Given the description of an element on the screen output the (x, y) to click on. 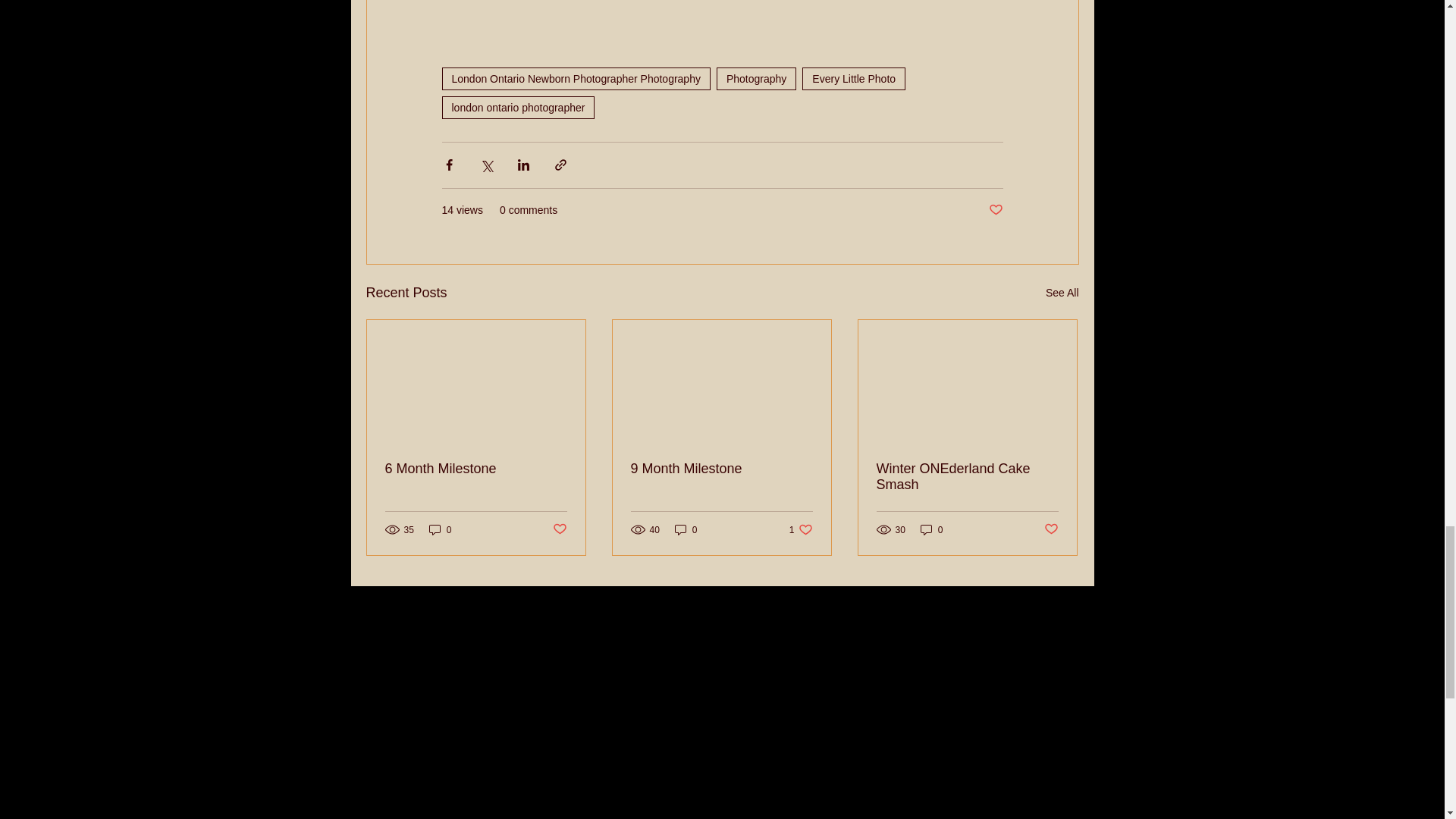
6 Month Milestone (476, 468)
Every Little Photo (853, 78)
0 (931, 529)
Photography (756, 78)
Winter ONEderland Cake Smash (967, 477)
london ontario photographer (517, 107)
Post not marked as liked (995, 210)
London Ontario Newborn Photographer Photography (575, 78)
Post not marked as liked (1050, 529)
0 (800, 529)
9 Month Milestone (440, 529)
0 (721, 468)
Post not marked as liked (685, 529)
See All (558, 529)
